Given the description of an element on the screen output the (x, y) to click on. 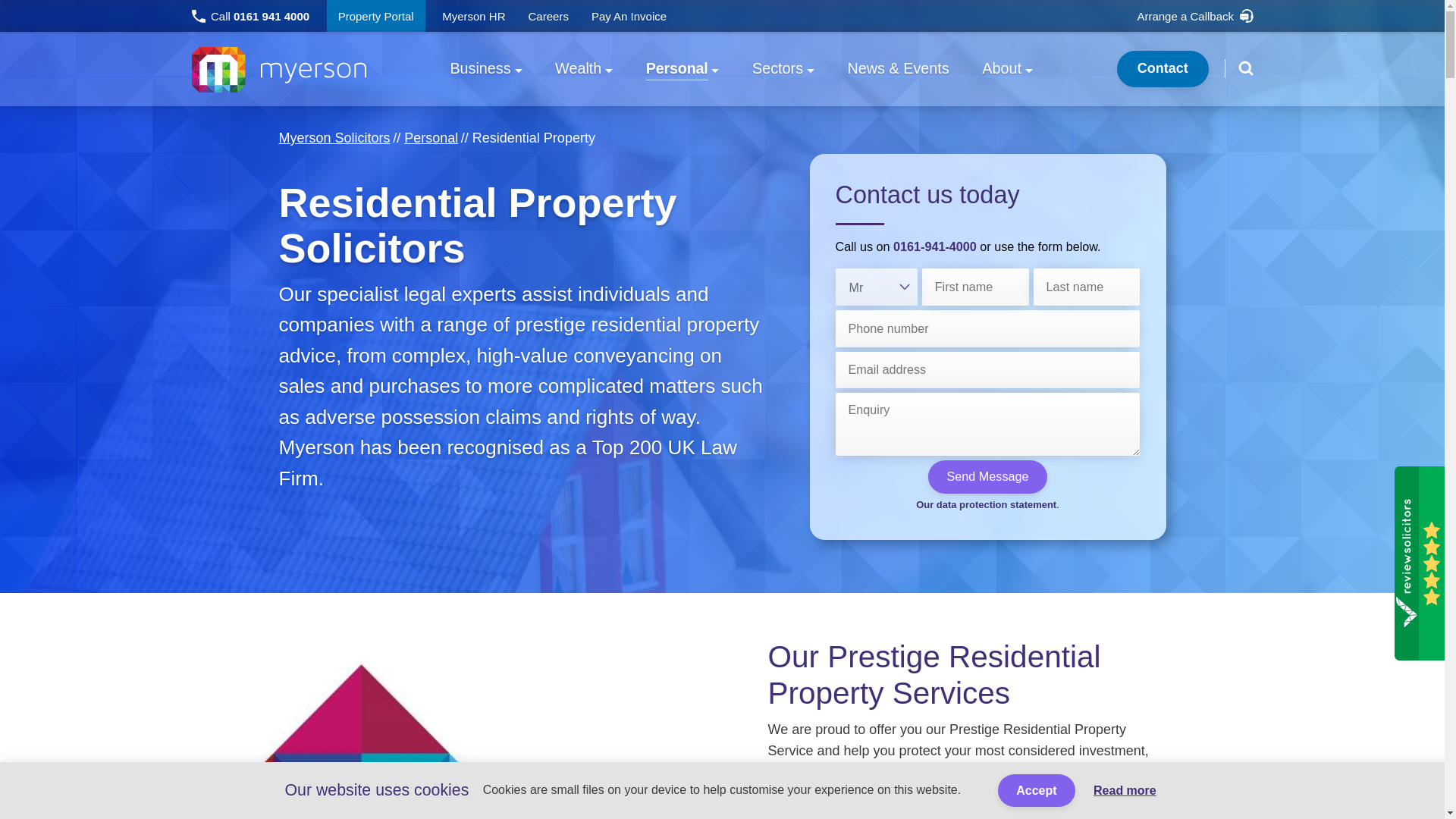
Property Portal (375, 15)
Wealth (583, 68)
Personal (682, 68)
Contact (1162, 68)
Send Message (987, 476)
Myerson Solicitors (334, 137)
Business (485, 68)
Open search (1244, 67)
Careers (547, 15)
Personal (431, 137)
Our data protection statement (986, 504)
Arrange a Callback (1194, 15)
Myerson HR (249, 15)
About (473, 15)
